Given the description of an element on the screen output the (x, y) to click on. 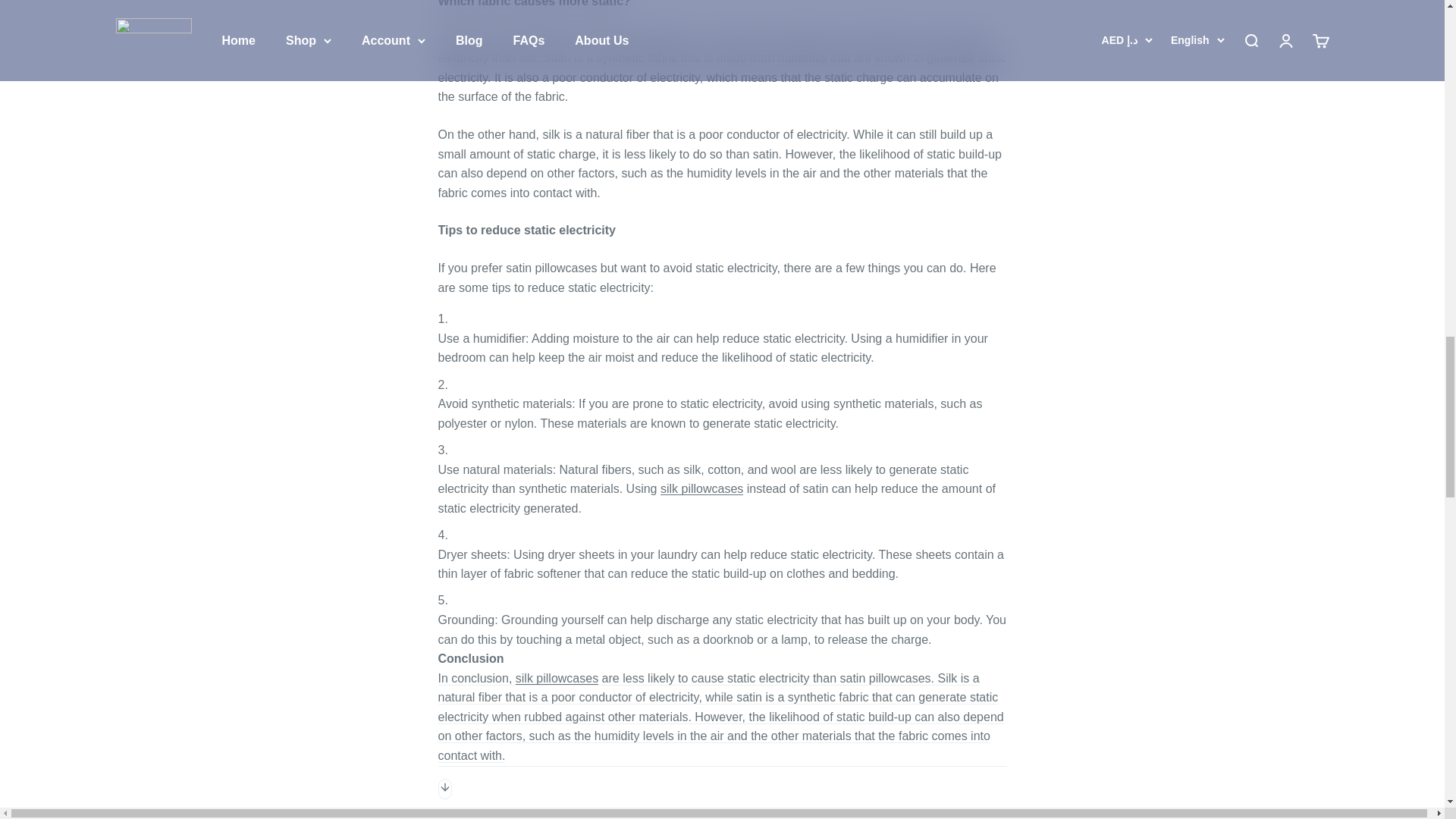
silksouq (556, 677)
